Given the description of an element on the screen output the (x, y) to click on. 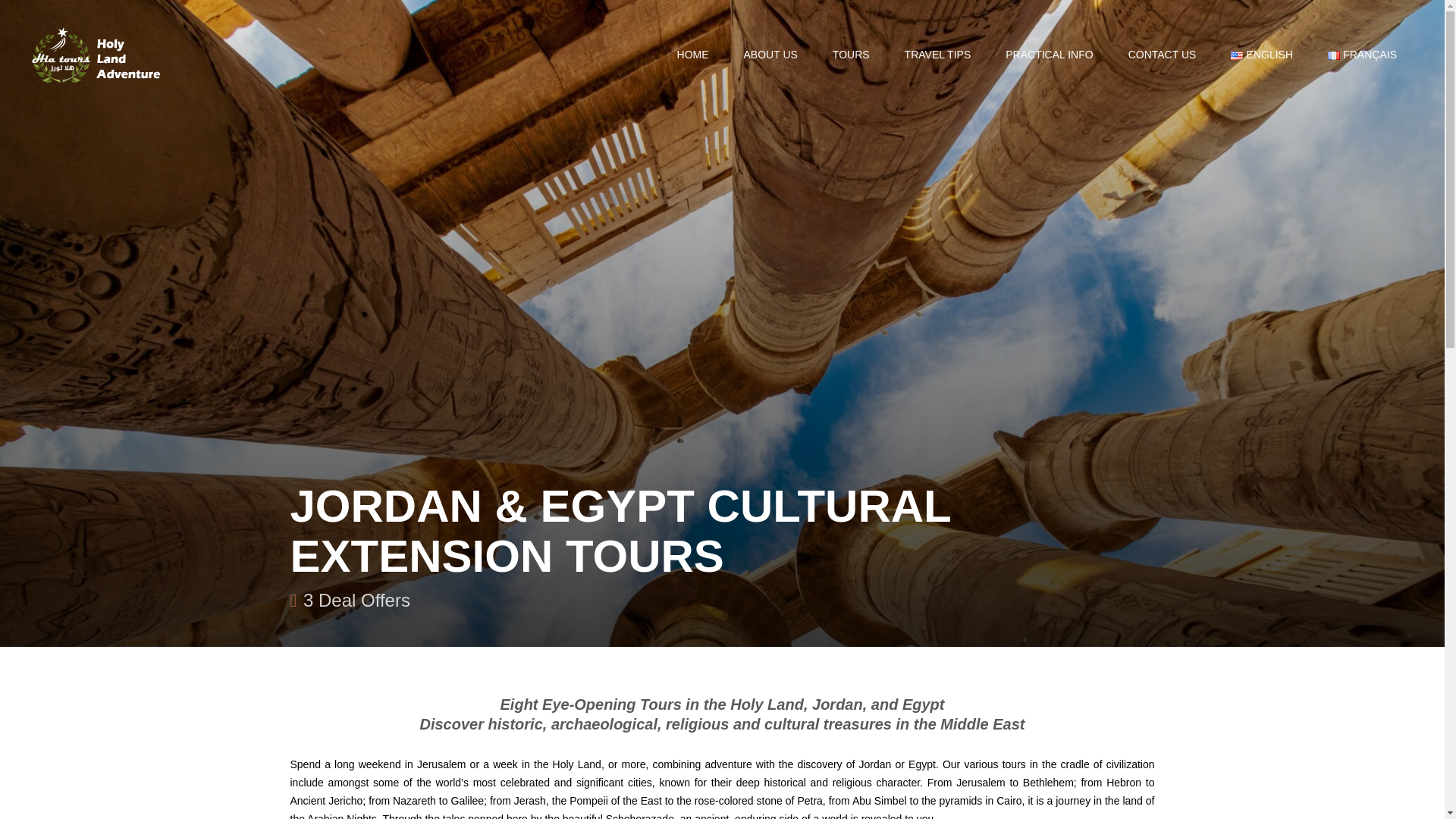
TRAVEL TIPS (937, 54)
CONTACT US (1162, 54)
PRACTICAL INFO (1049, 54)
ENGLISH (1261, 54)
TOURS (850, 54)
Hla Tours (96, 54)
ABOUT US (770, 54)
HOME (693, 54)
